Given the description of an element on the screen output the (x, y) to click on. 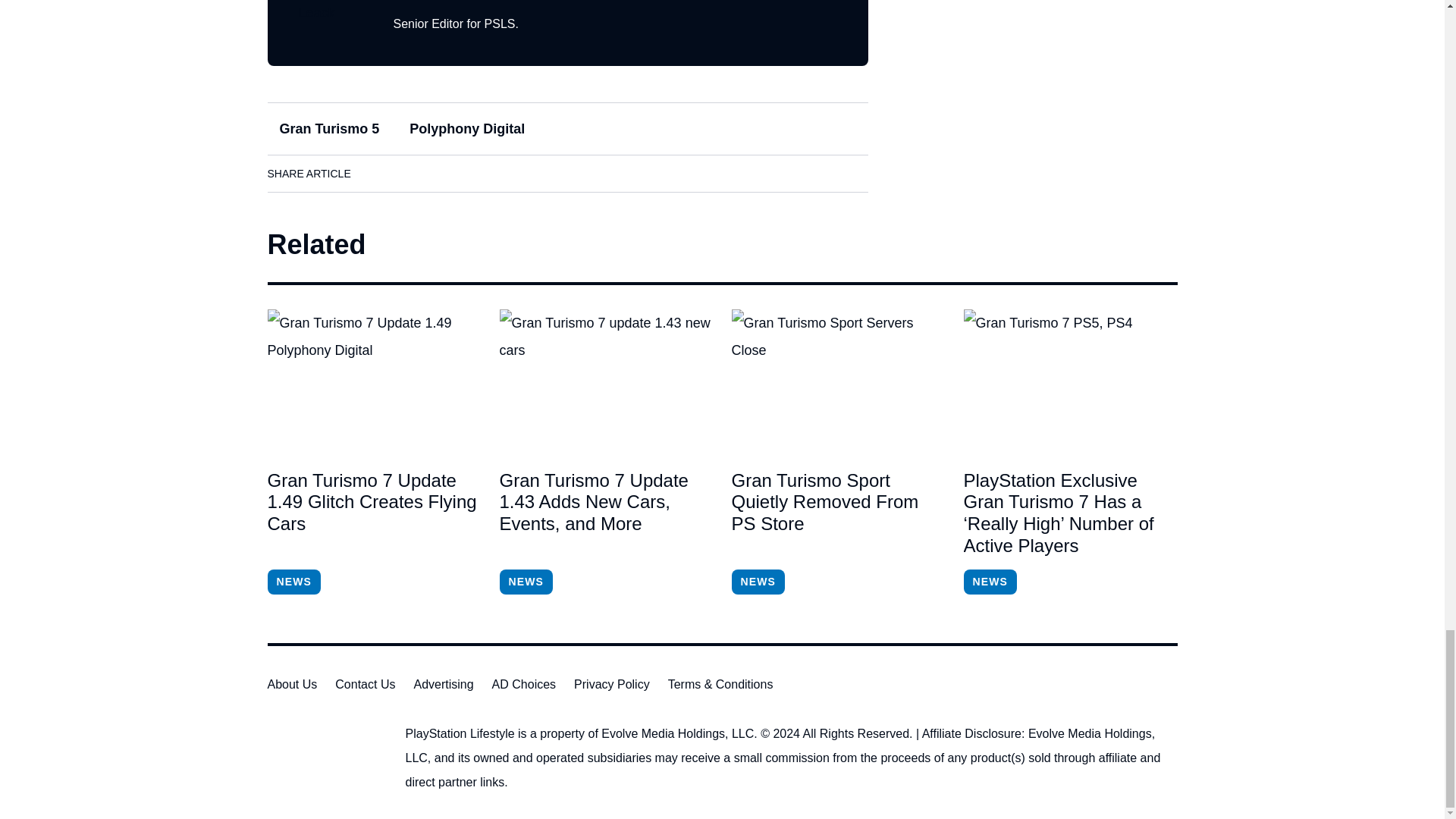
Gran Turismo 5 (328, 128)
Gran Turismo 7 Update 1.49 Glitch Creates Flying Cars (373, 380)
Gran Turismo Sport Quietly Removed From PS Store (837, 380)
Gran Turismo 7 Update 1.43 Adds New Cars, Events, and More (606, 380)
Gran Turismo 7 Update 1.49 Glitch Creates Flying Cars (373, 513)
Gran Turismo 7 Update 1.43 Adds New Cars, Events, and More (606, 513)
Gran Turismo Sport Quietly Removed From PS Store (837, 513)
Twitter (463, 173)
LinkedIn (420, 173)
Polyphony Digital (467, 128)
Pinterest (505, 173)
Facebook (377, 173)
